Given the description of an element on the screen output the (x, y) to click on. 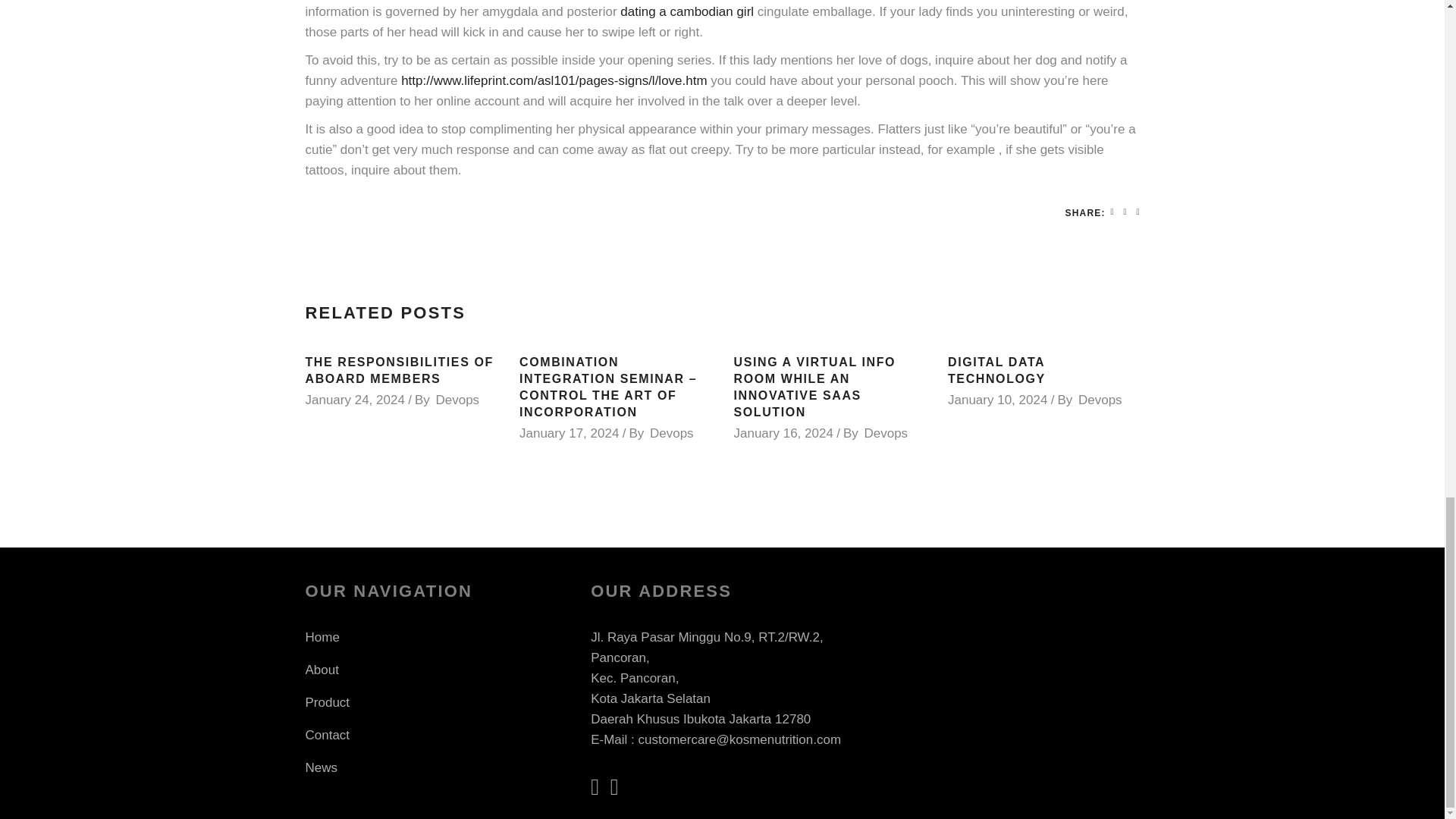
January 10, 2024 (996, 400)
Home (321, 636)
Digital Data Technology (996, 369)
Using a Virtual Info Room While an Innovative SaaS Solution (814, 386)
January 24, 2024 (354, 400)
About (320, 669)
Devops (671, 432)
Product (326, 702)
The Responsibilities of Aboard Members (398, 369)
January 17, 2024 (568, 432)
Devops (1100, 400)
THE RESPONSIBILITIES OF ABOARD MEMBERS (398, 369)
Devops (457, 400)
January 16, 2024 (782, 432)
News (320, 767)
